Given the description of an element on the screen output the (x, y) to click on. 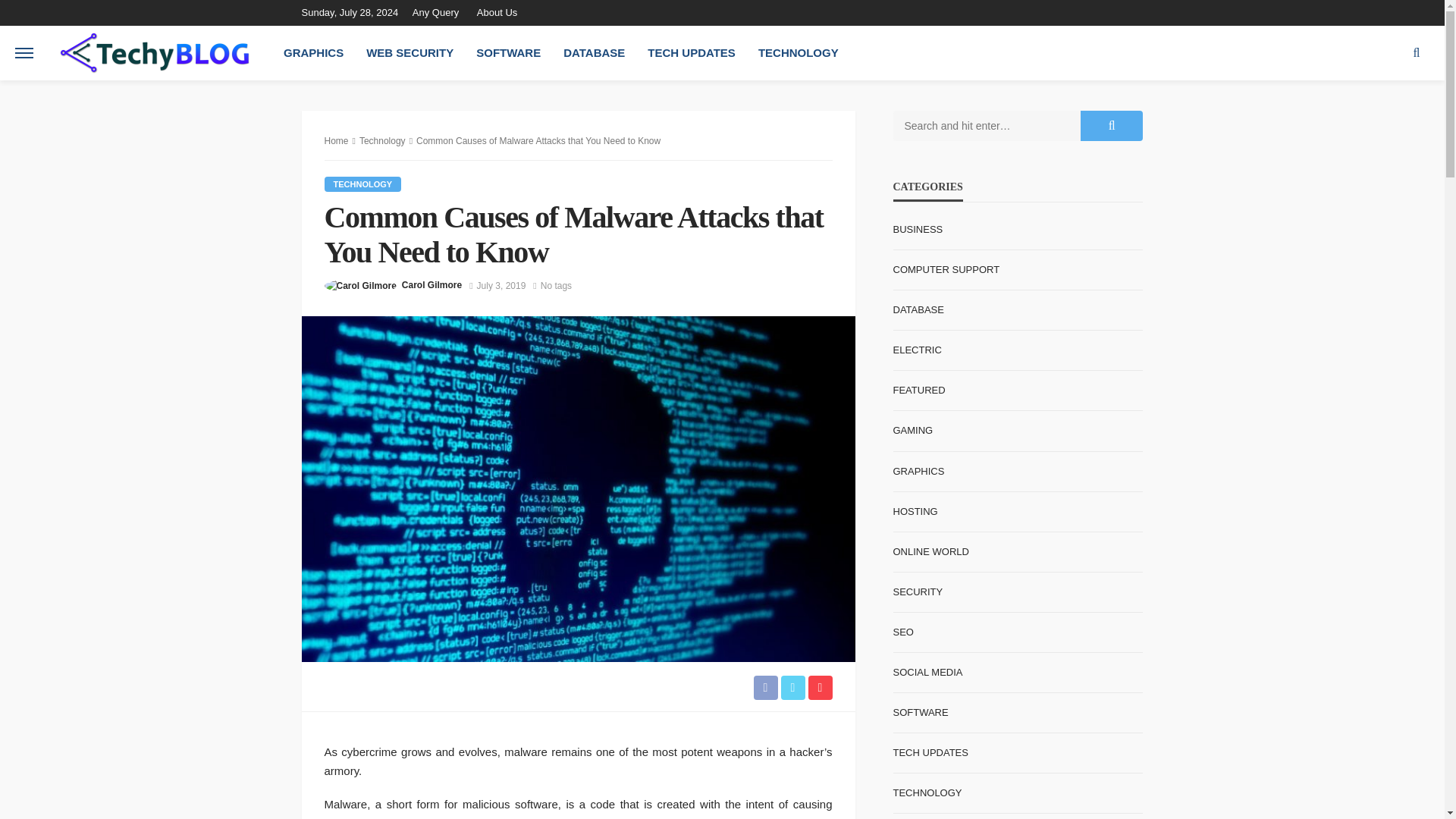
Technology (382, 140)
off canvas button (23, 52)
GRAPHICS (313, 52)
Carol Gilmore (431, 284)
Techy Blog (153, 52)
Home (336, 140)
WEB SECURITY (409, 52)
DATABASE (593, 52)
SOFTWARE (507, 52)
Search (1416, 52)
TECHNOLOGY (798, 52)
About Us (496, 12)
TECHNOLOGY (362, 183)
Any Query (438, 12)
TECH UPDATES (691, 52)
